Given the description of an element on the screen output the (x, y) to click on. 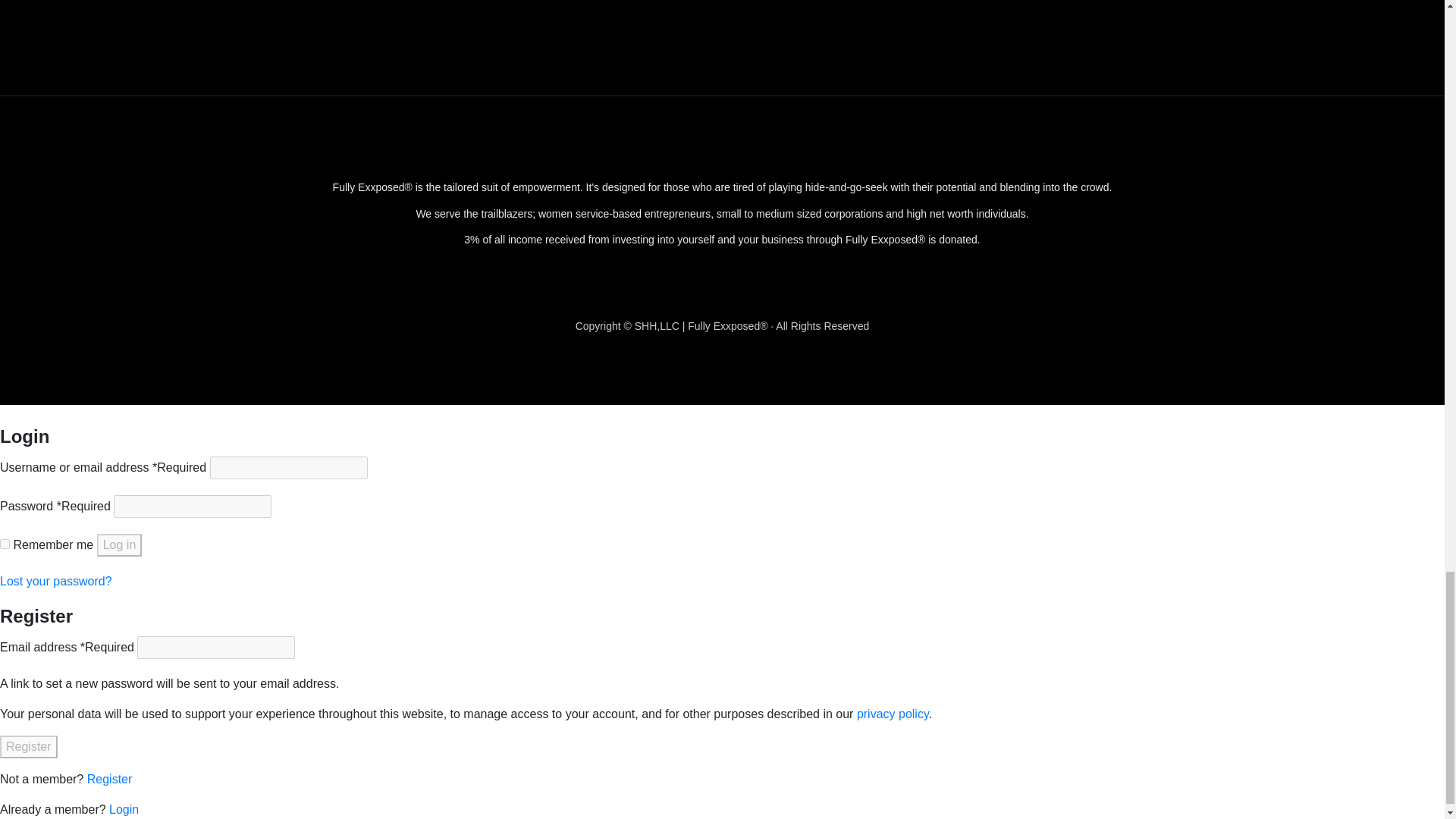
Register (29, 746)
Register (109, 779)
A (493, 19)
Lost your password? (56, 581)
Login (123, 809)
Log in (119, 544)
privacy policy (892, 713)
forever (5, 543)
